Given the description of an element on the screen output the (x, y) to click on. 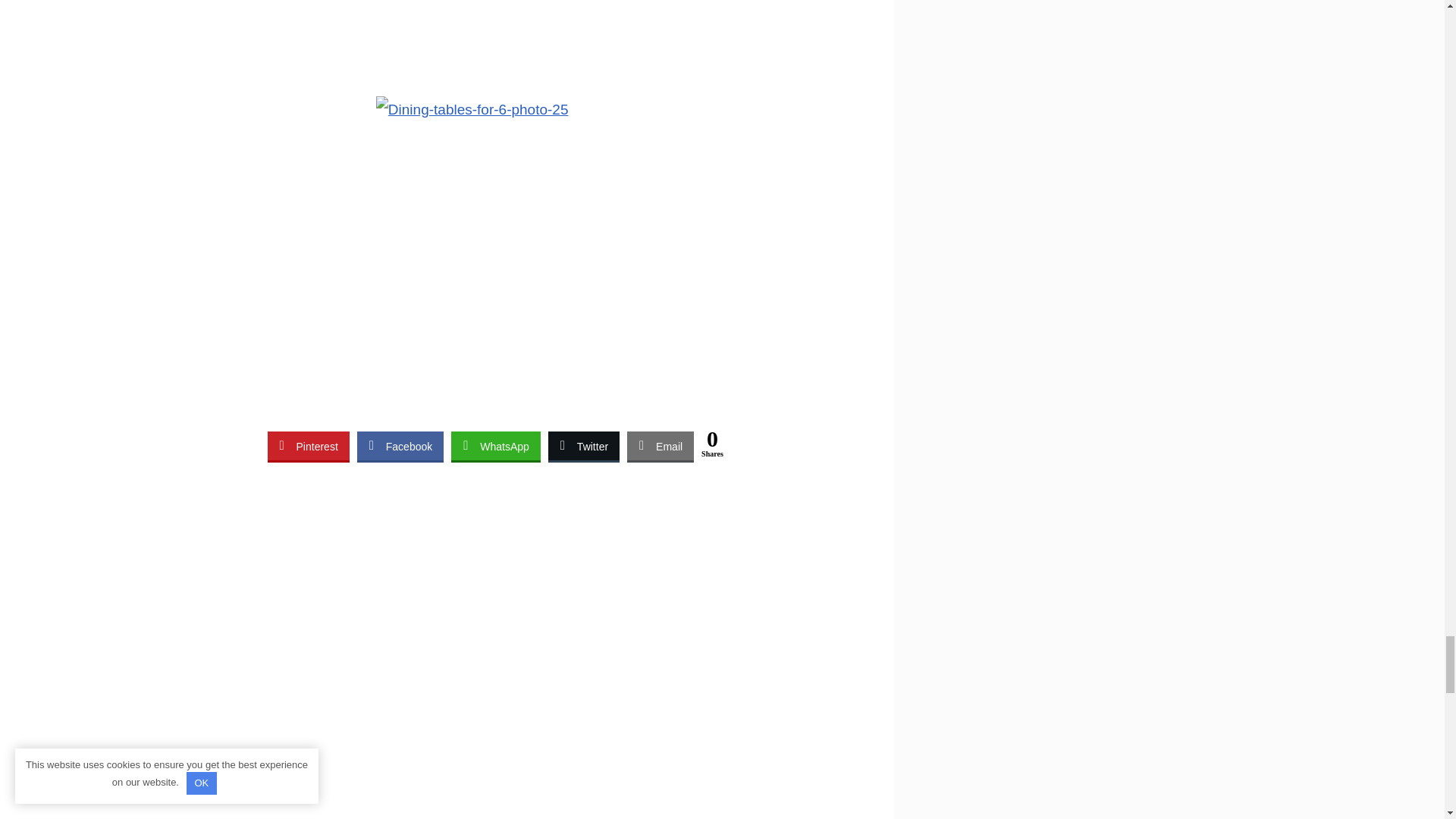
Email (660, 445)
Facebook (400, 445)
Twitter (584, 445)
Pinterest (308, 445)
WhatsApp (495, 445)
